Given the description of an element on the screen output the (x, y) to click on. 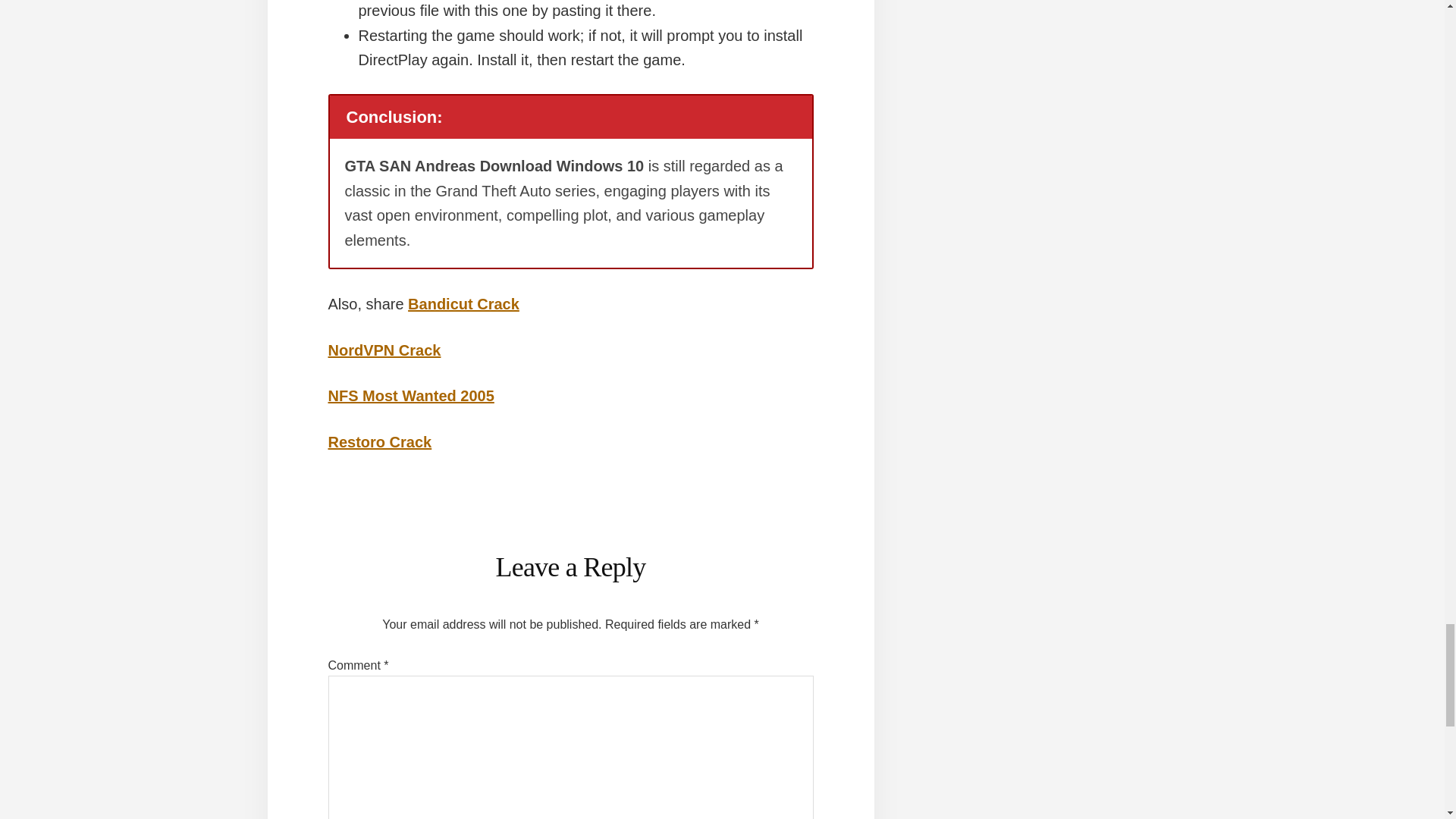
NordVPN Crack (384, 350)
NFS Most Wanted 2005 (410, 395)
Restoro Crack (378, 442)
Bandicut Crack (463, 303)
